Given the description of an element on the screen output the (x, y) to click on. 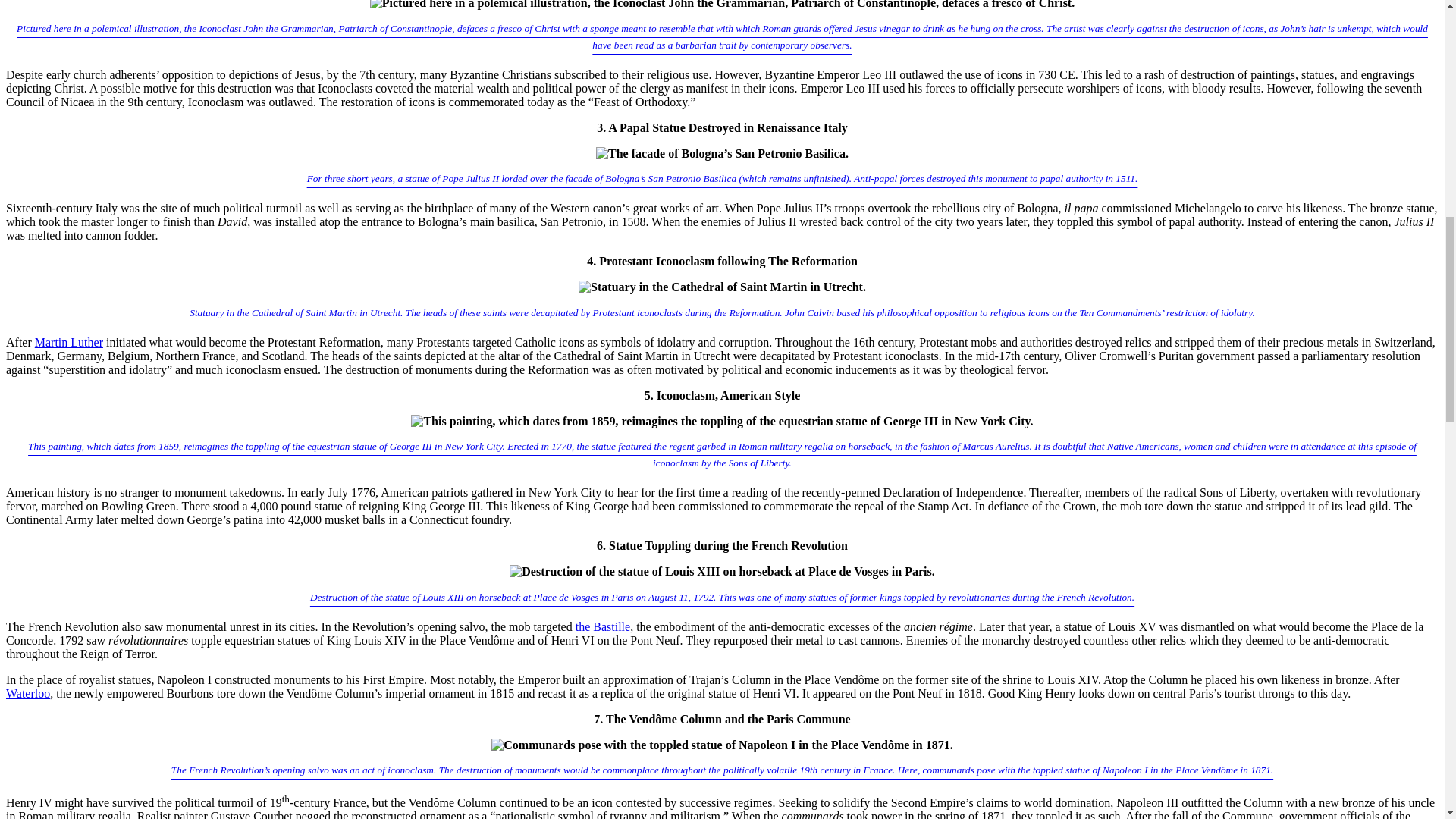
Martin Luther (68, 341)
Waterloo (27, 693)
the Bastille (602, 626)
